Given the description of an element on the screen output the (x, y) to click on. 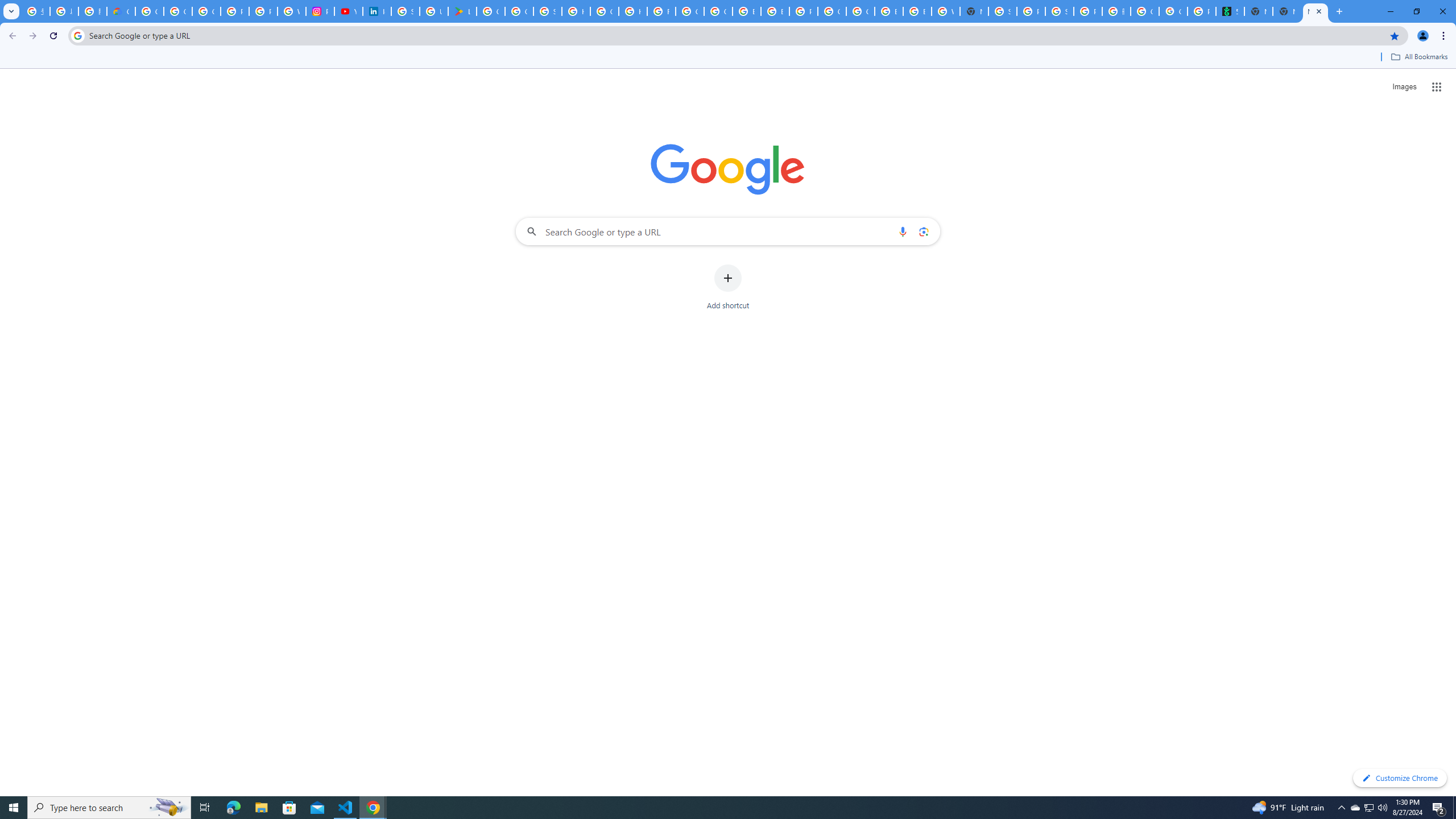
Google Cloud Platform (831, 11)
